Given the description of an element on the screen output the (x, y) to click on. 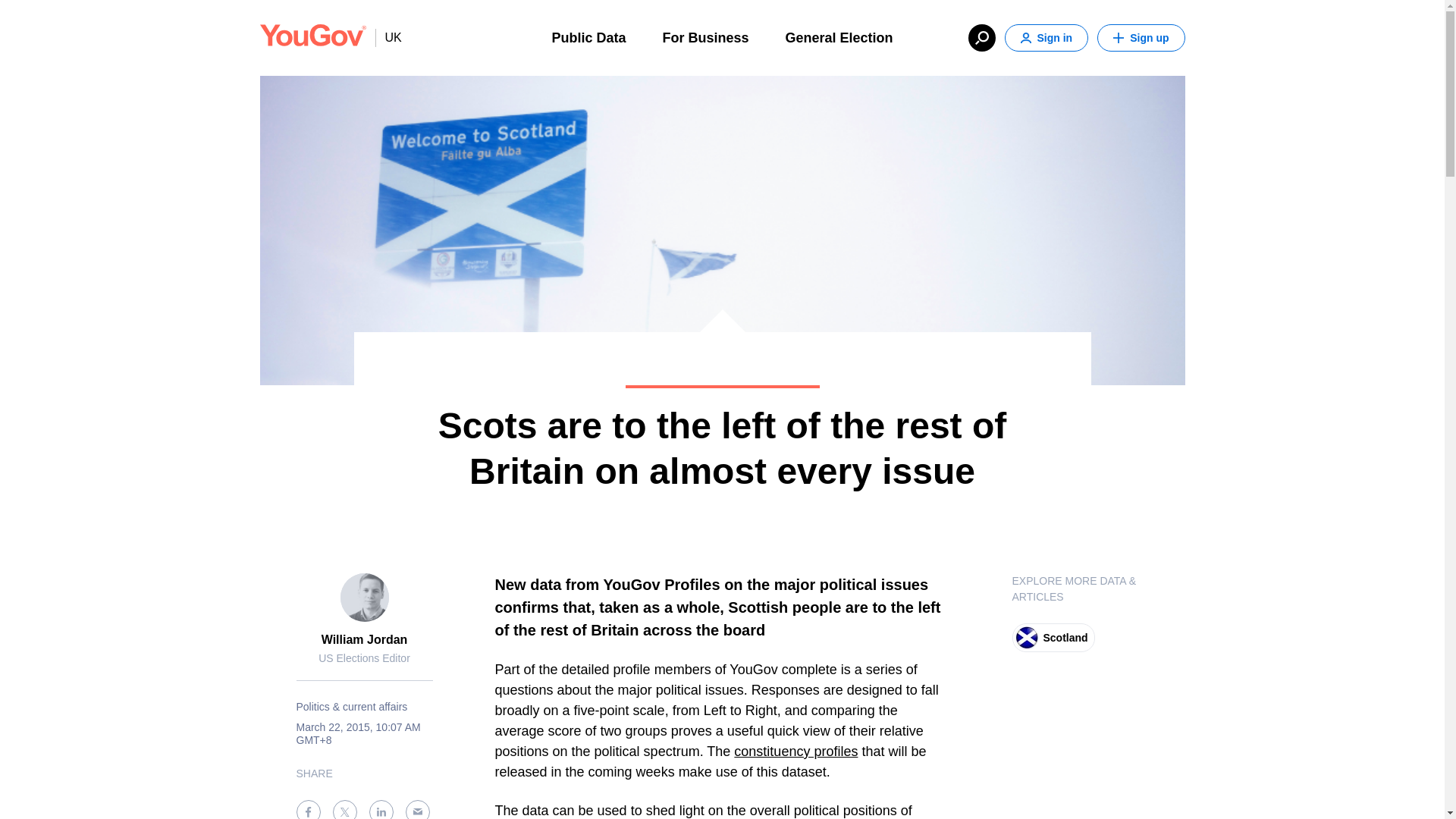
Sign in (1045, 37)
Public Data (588, 37)
General Election (839, 37)
Sign up (1141, 37)
UK (387, 37)
For Business (705, 37)
